Given the description of an element on the screen output the (x, y) to click on. 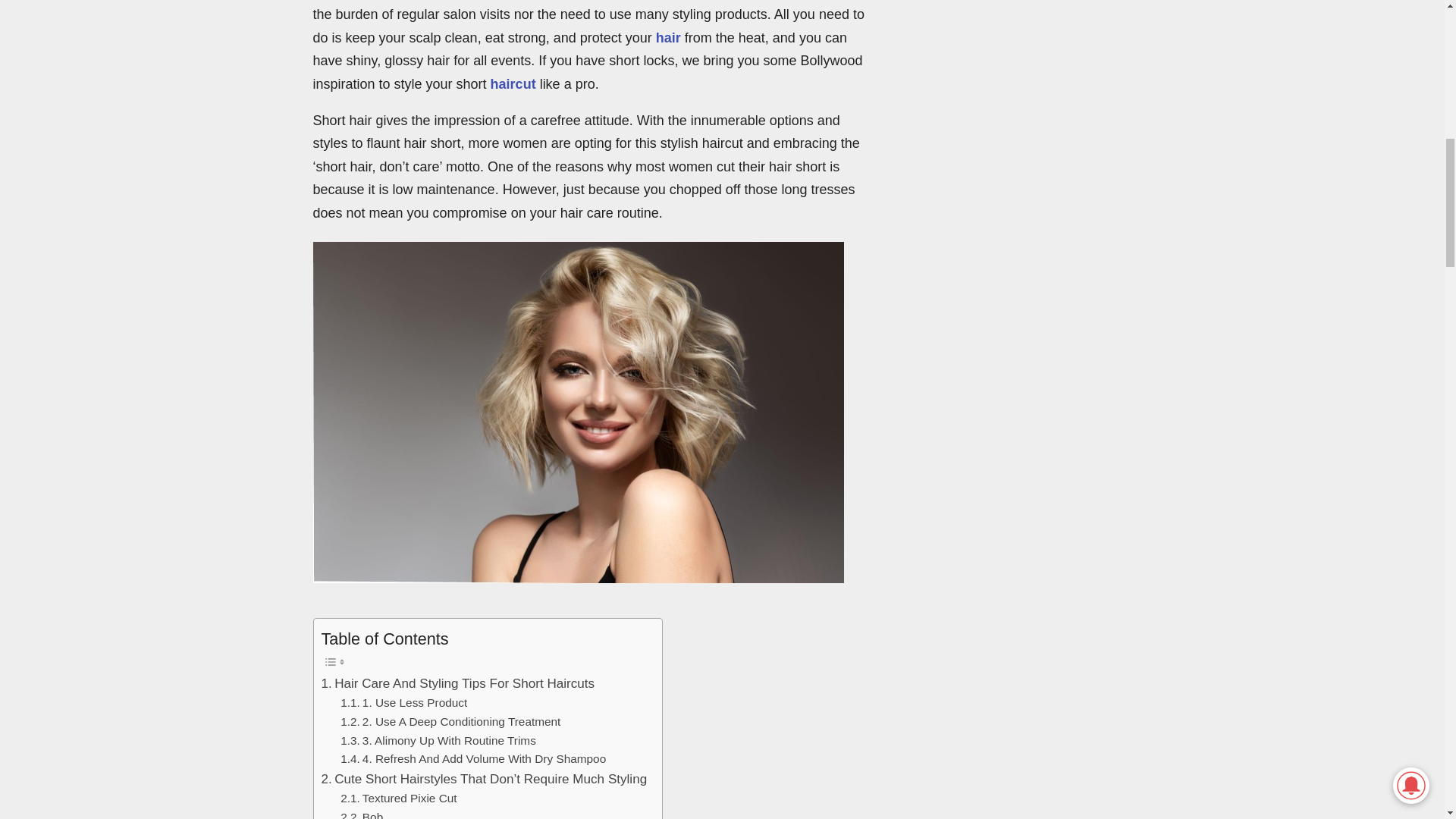
Textured Pixie Cut (398, 798)
Hair Care And Styling Tips For Short Haircuts (458, 683)
Bob (361, 813)
haircut (512, 83)
2. Use A Deep Conditioning Treatment (450, 722)
1. Use Less Product (403, 702)
3. Alimony Up With Routine Trims (437, 741)
hair (668, 37)
Bob (361, 813)
1. Use Less Product (403, 702)
